Given the description of an element on the screen output the (x, y) to click on. 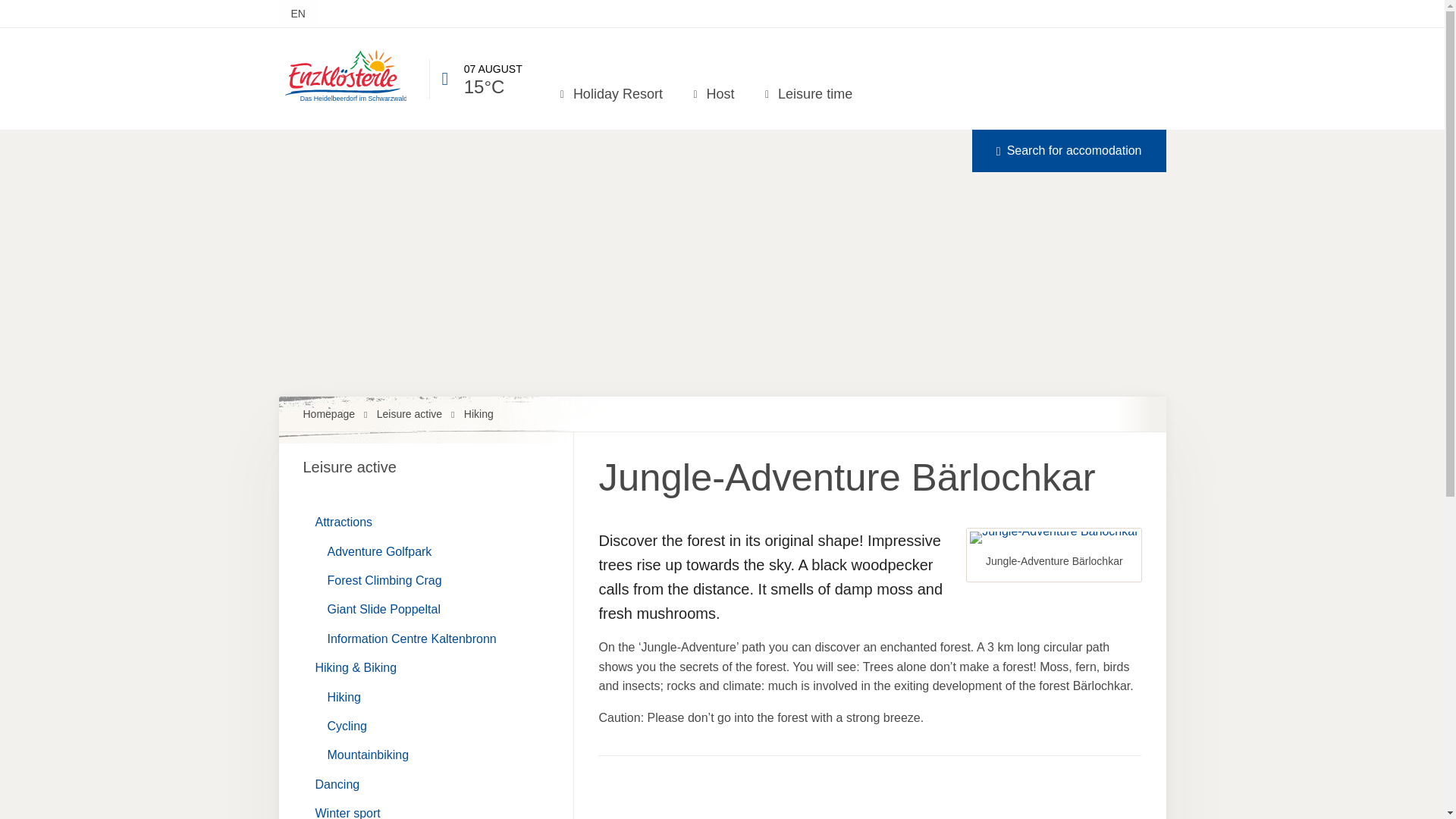
Holiday Resort (609, 93)
Leisure time (806, 93)
Search for accomodation (1069, 150)
Host (711, 93)
External accommodation portal (1069, 150)
Homepage (338, 413)
Das Heidelbeerdorf im Schwarzwald (342, 101)
Das Heidelbeerdorf im Schwarzwald (342, 75)
EN (298, 13)
